Given the description of an element on the screen output the (x, y) to click on. 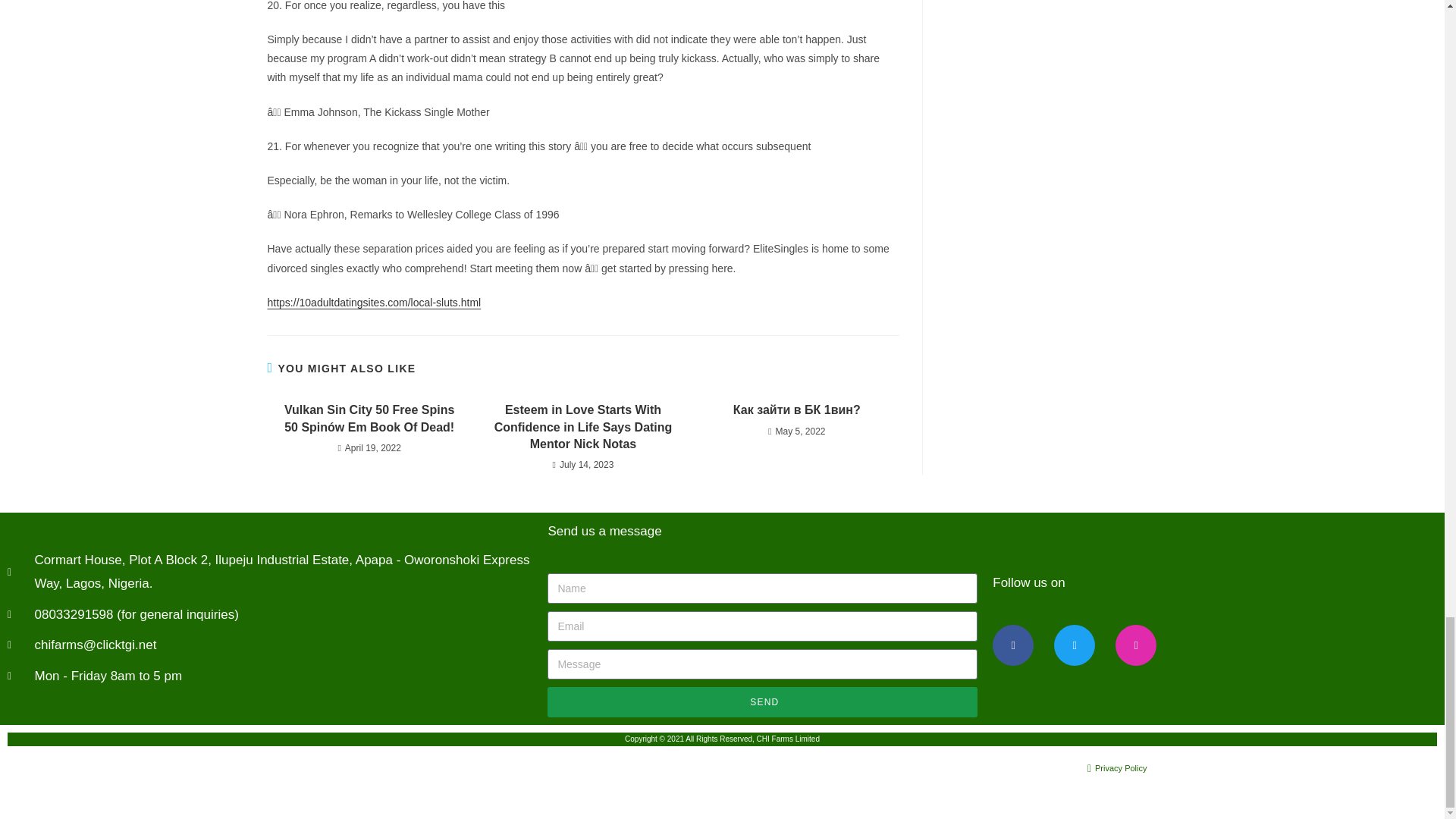
Privacy Policy (938, 768)
SEND (761, 702)
